Given the description of an element on the screen output the (x, y) to click on. 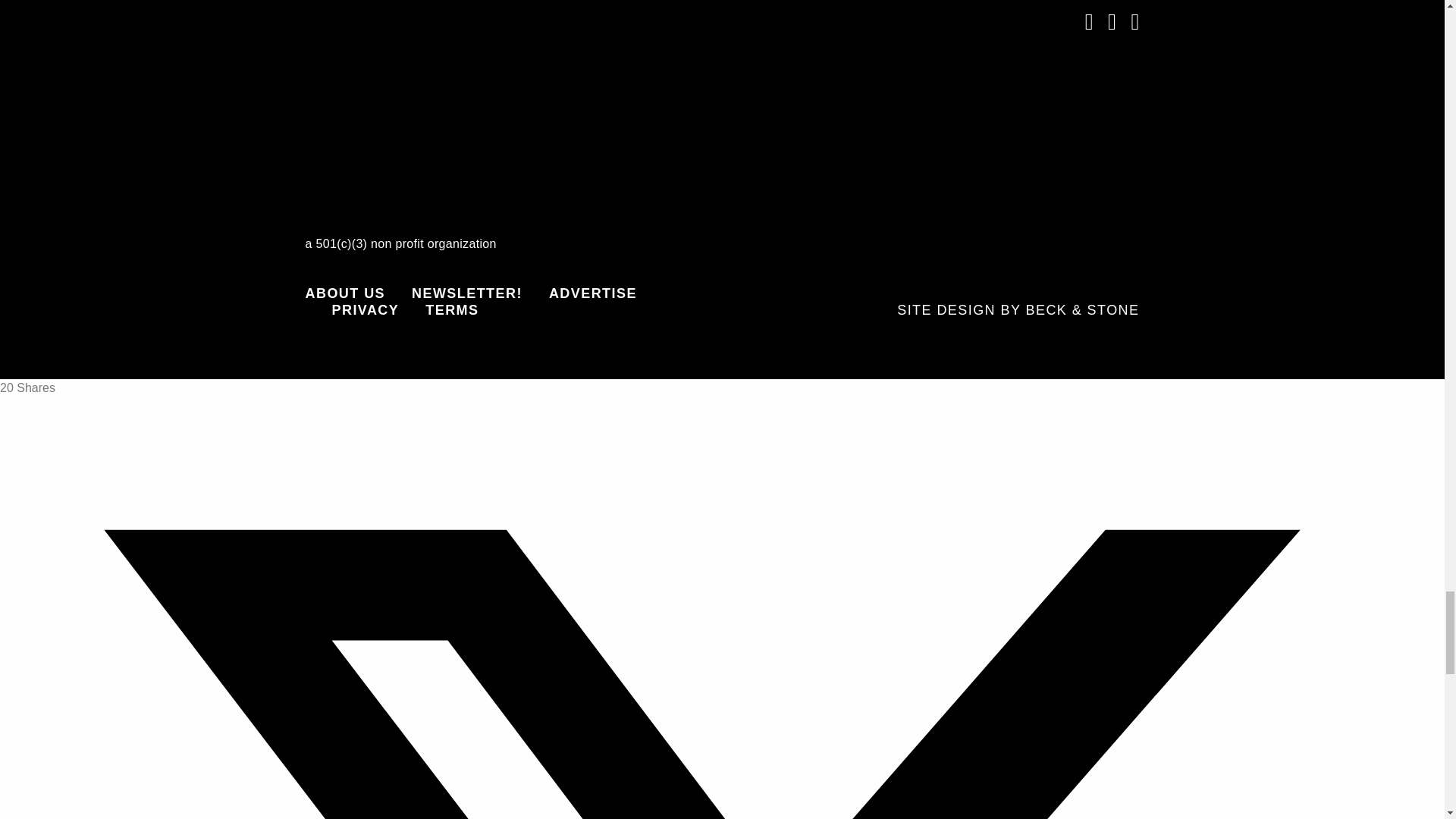
Privacy Policy (364, 310)
Terms of Use (452, 310)
Advertise (592, 293)
